Given the description of an element on the screen output the (x, y) to click on. 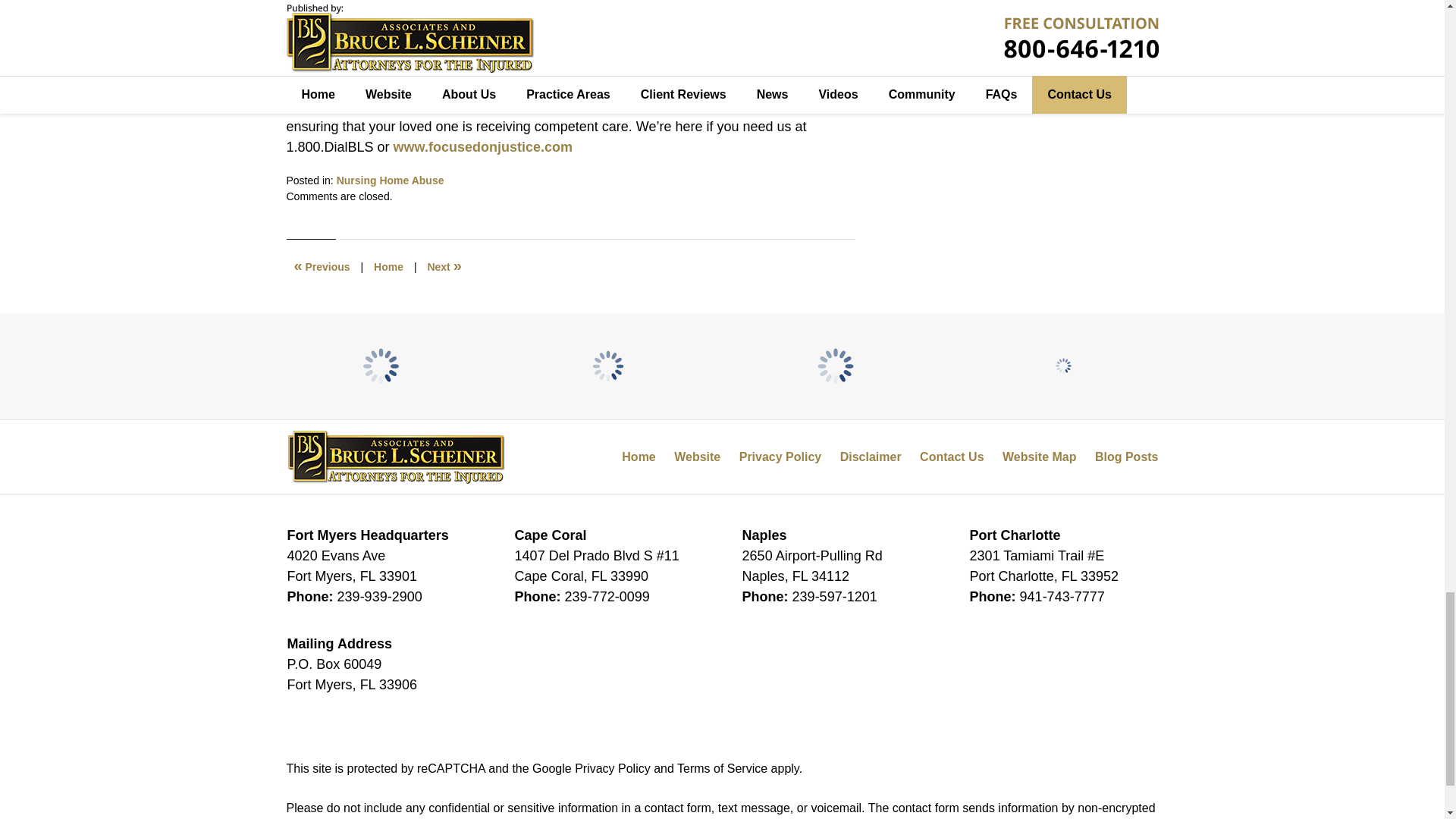
View all posts in Nursing Home Abuse (390, 180)
www.focusedonjustice.com (482, 146)
Nursing Home Abuse (390, 180)
Home (388, 266)
